Given the description of an element on the screen output the (x, y) to click on. 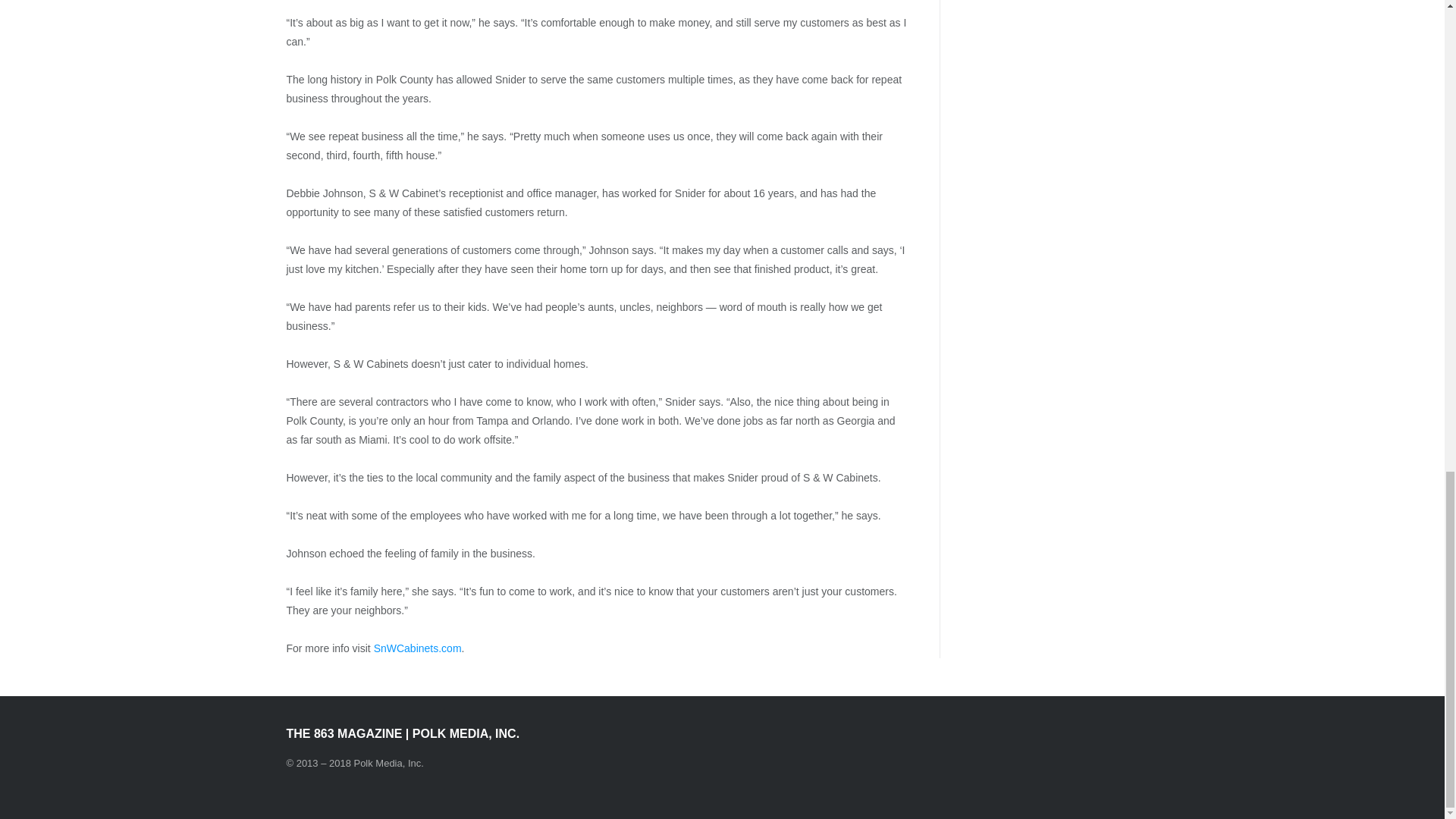
SnWCabinets.com (417, 648)
